Given the description of an element on the screen output the (x, y) to click on. 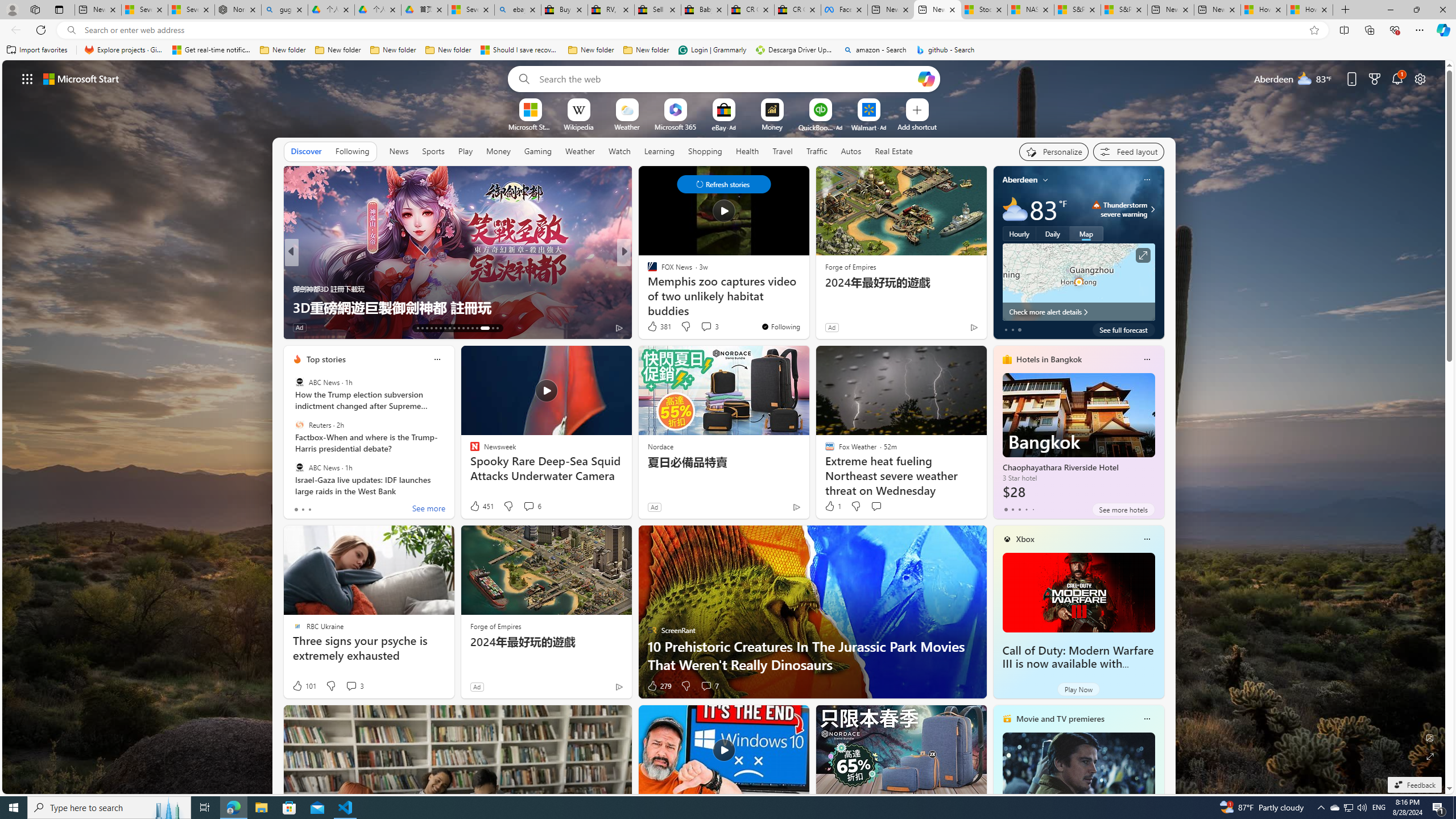
AutomationID: tab-25 (472, 328)
Health (746, 151)
AutomationID: tab-19 (444, 328)
101 Like (303, 685)
More options (1146, 718)
AutomationID: tab-15 (426, 328)
Notifications (1397, 78)
Start the conversation (876, 505)
View comments 74 Comment (6, 327)
Weather (579, 151)
Start the conversation (876, 505)
Autos (850, 151)
